Given the description of an element on the screen output the (x, y) to click on. 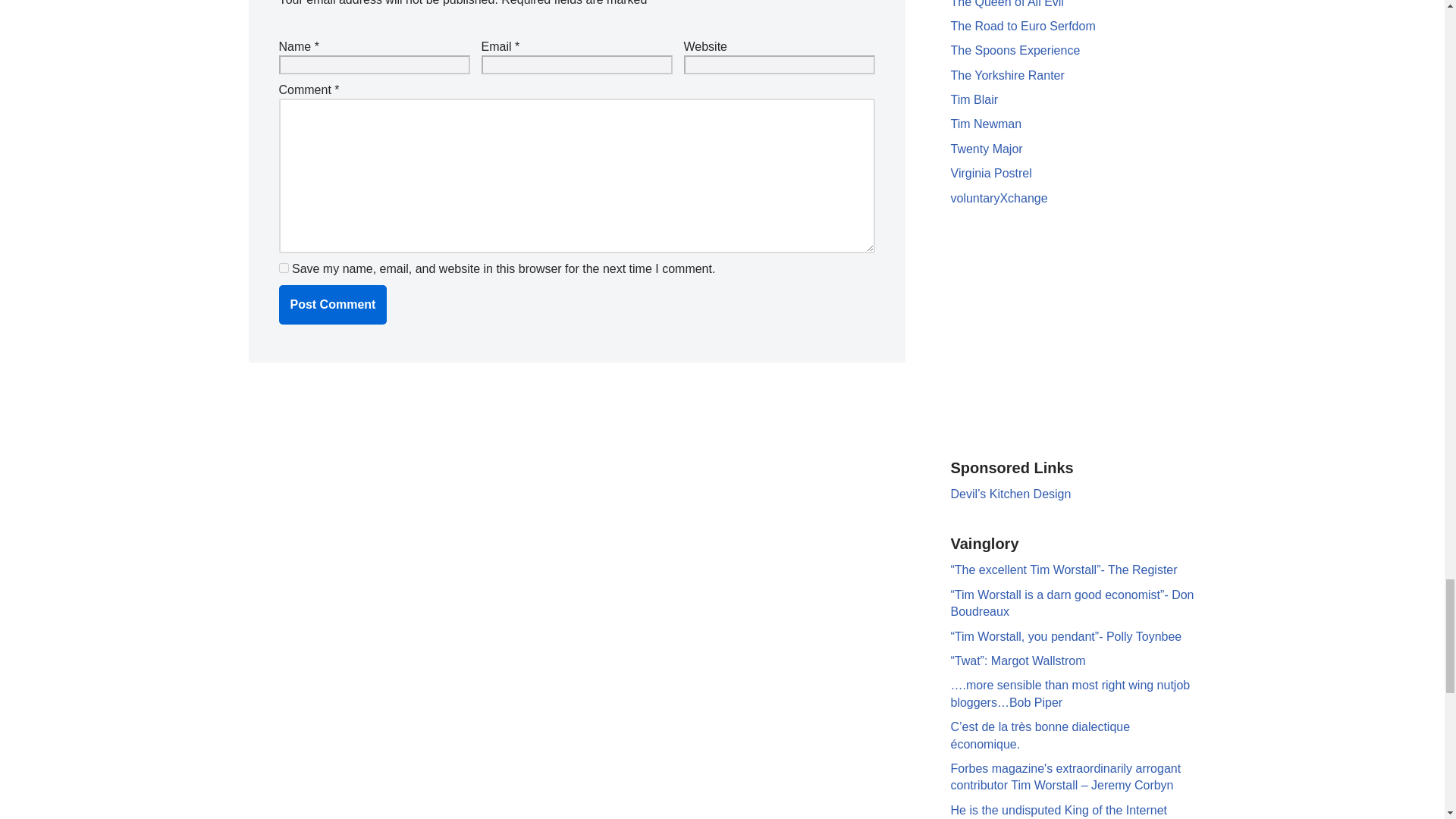
yes (283, 267)
Post Comment (333, 304)
Post Comment (333, 304)
